Given the description of an element on the screen output the (x, y) to click on. 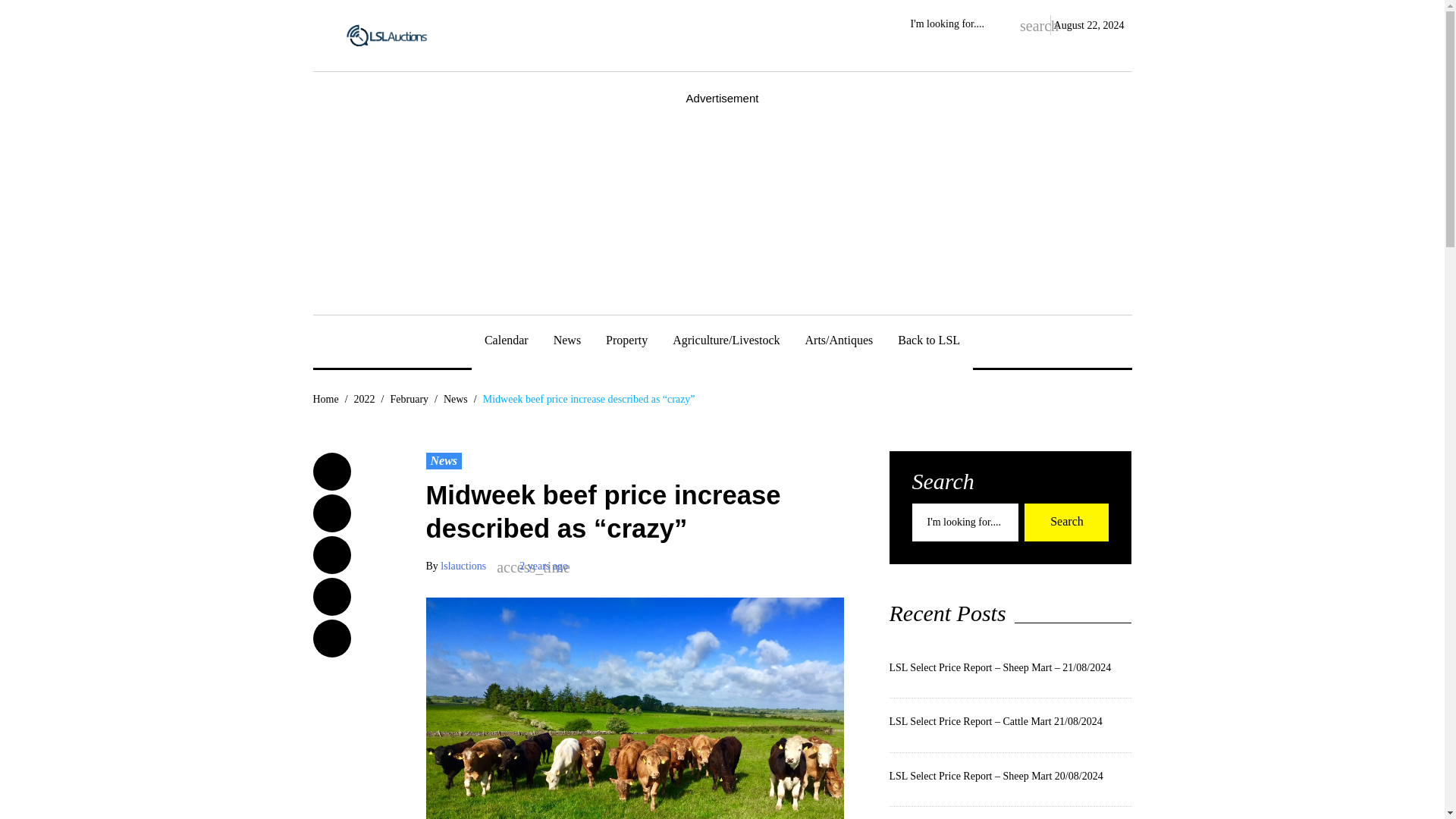
LinkedIn (331, 596)
News (444, 460)
Search for: (964, 522)
February (409, 398)
Facebook (331, 471)
Back to LSL (928, 342)
search (1027, 24)
Home (325, 398)
Search (1066, 522)
Property (626, 342)
